Given the description of an element on the screen output the (x, y) to click on. 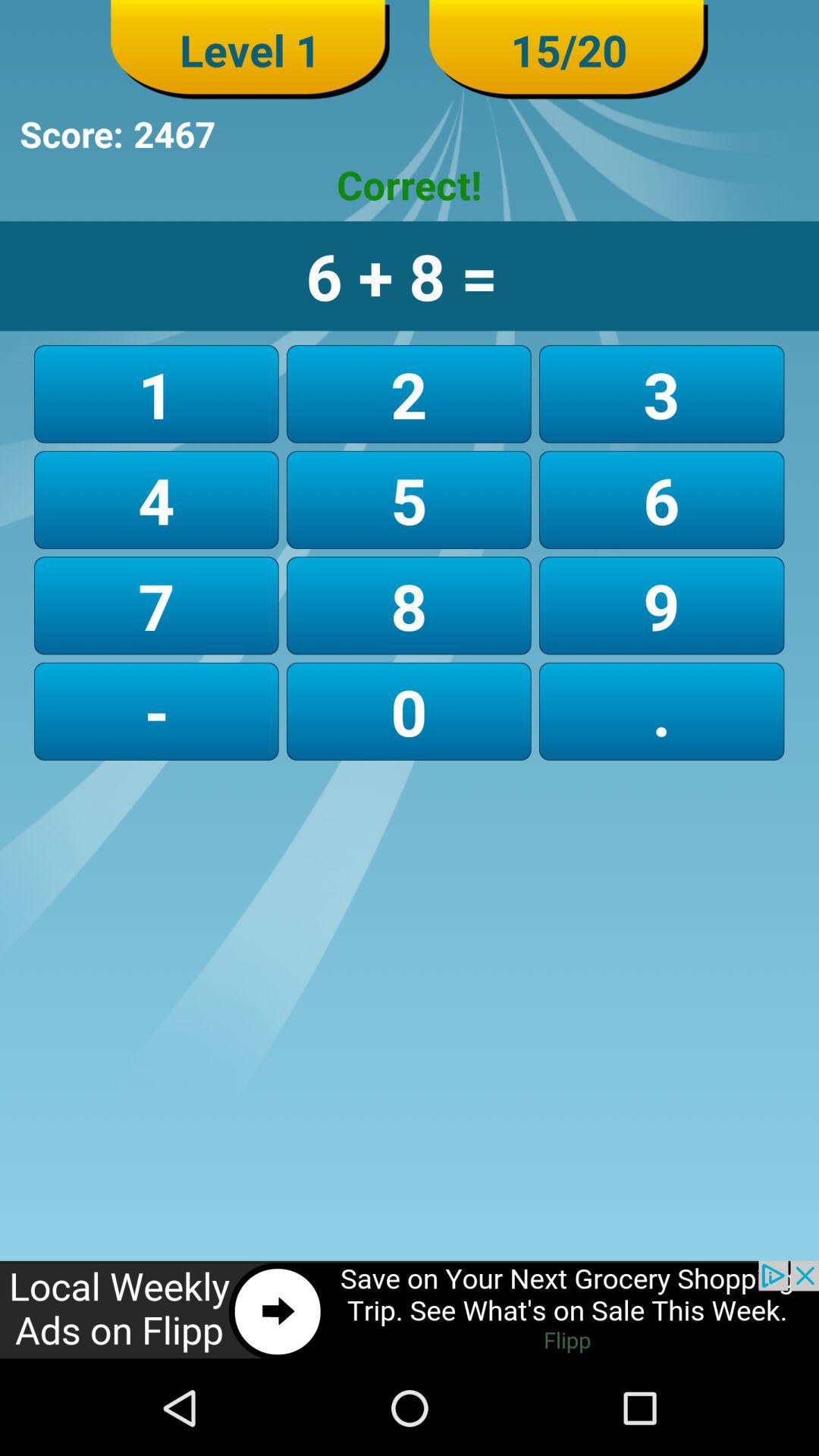
select icon below the 1 item (408, 499)
